Given the description of an element on the screen output the (x, y) to click on. 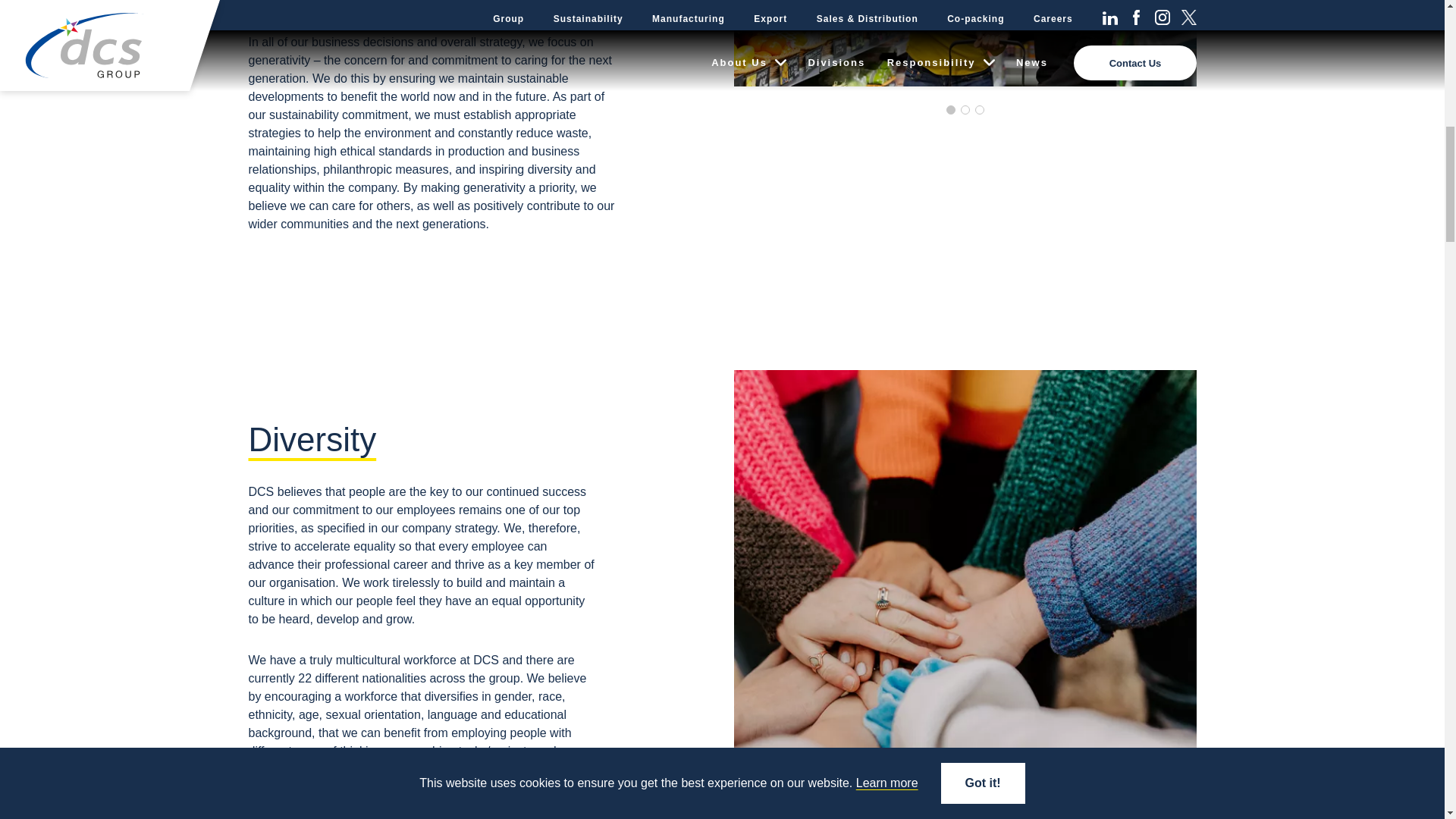
2 (964, 109)
3 (979, 109)
1 (950, 109)
